Given the description of an element on the screen output the (x, y) to click on. 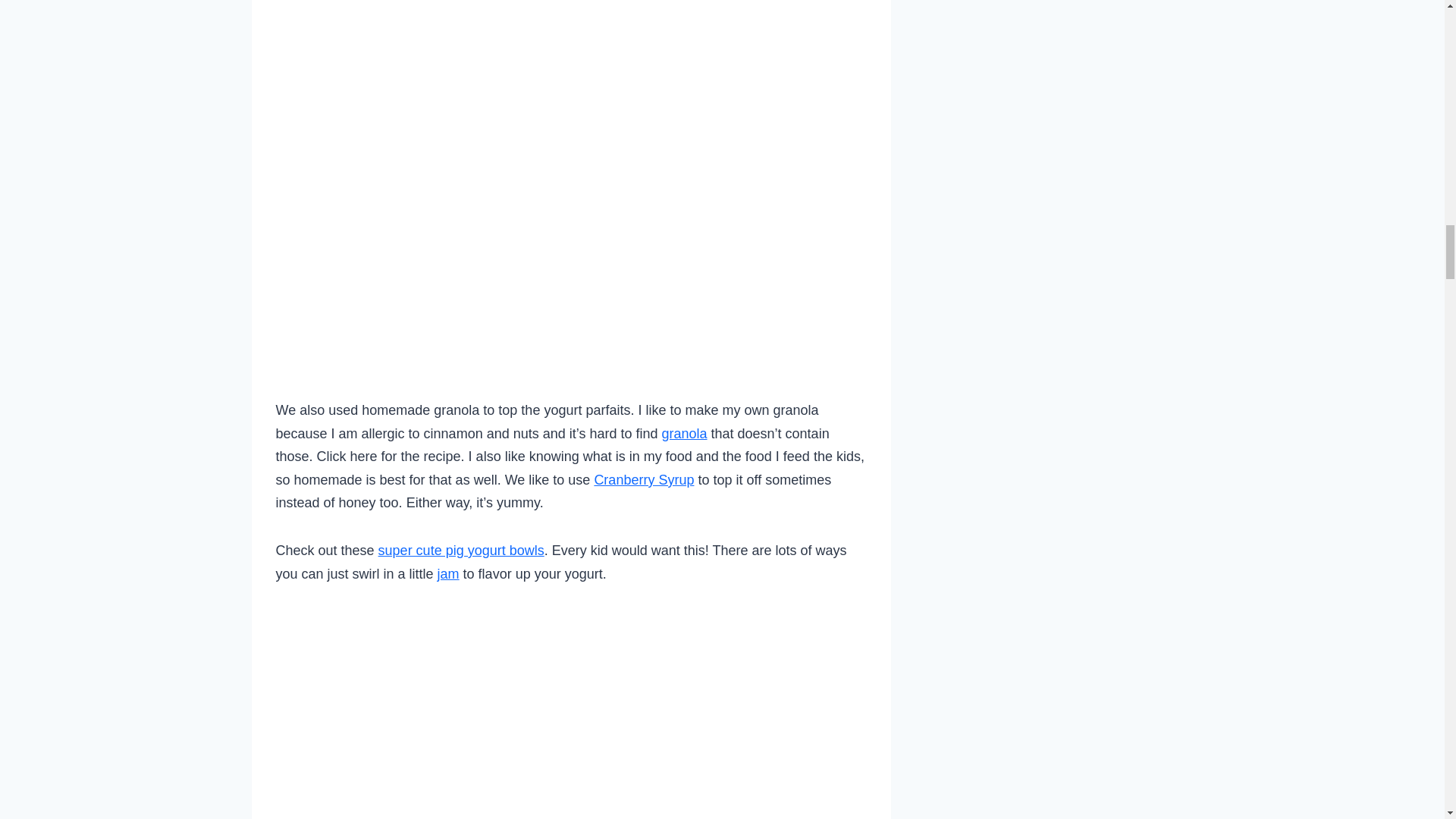
super cute pig yogurt bowls (461, 549)
jam (449, 573)
Cranberry Syrup (644, 479)
granola (683, 433)
